Given the description of an element on the screen output the (x, y) to click on. 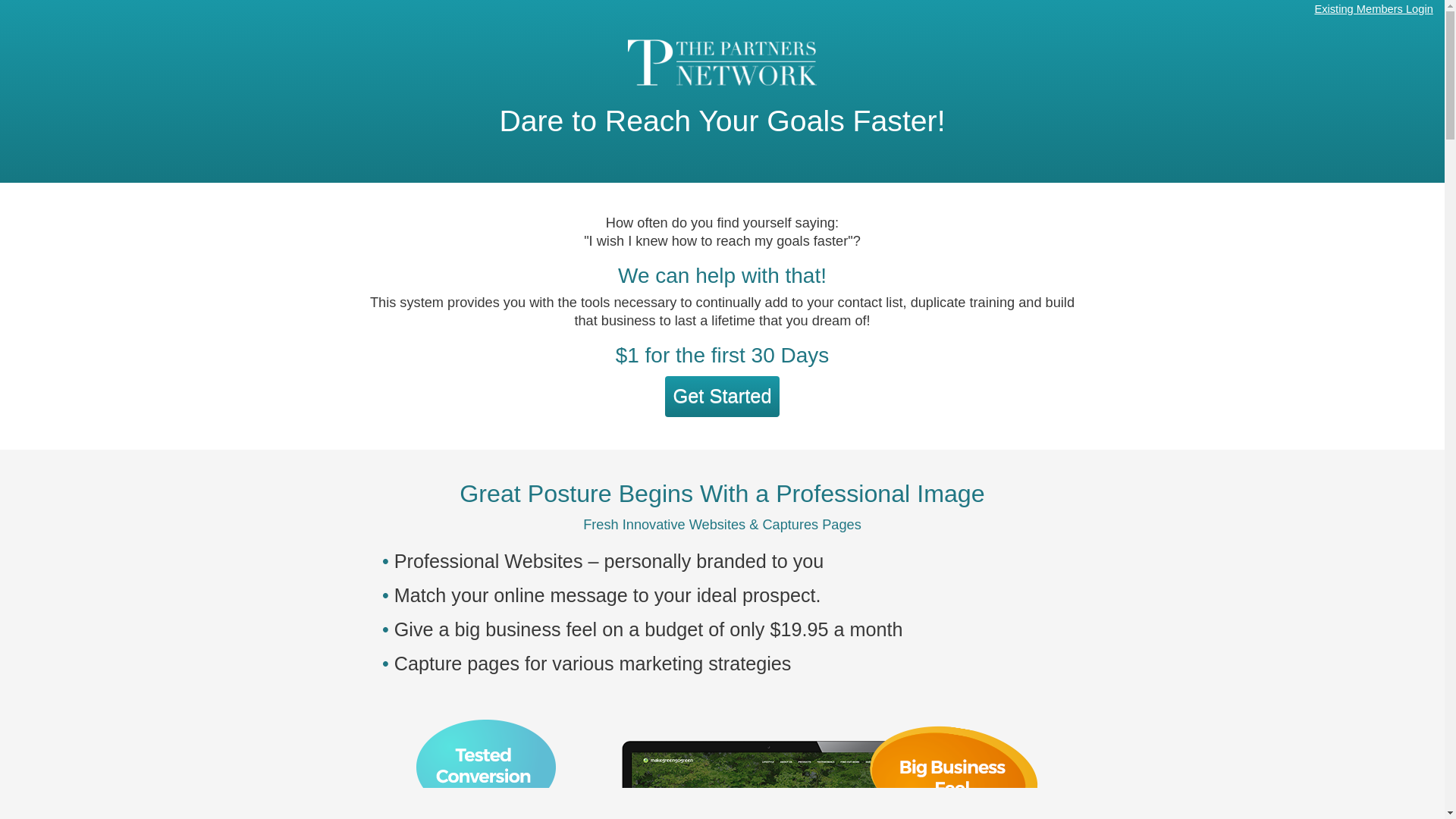
Get Started (721, 395)
Get Started (721, 397)
Existing Members Login (1373, 9)
